Given the description of an element on the screen output the (x, y) to click on. 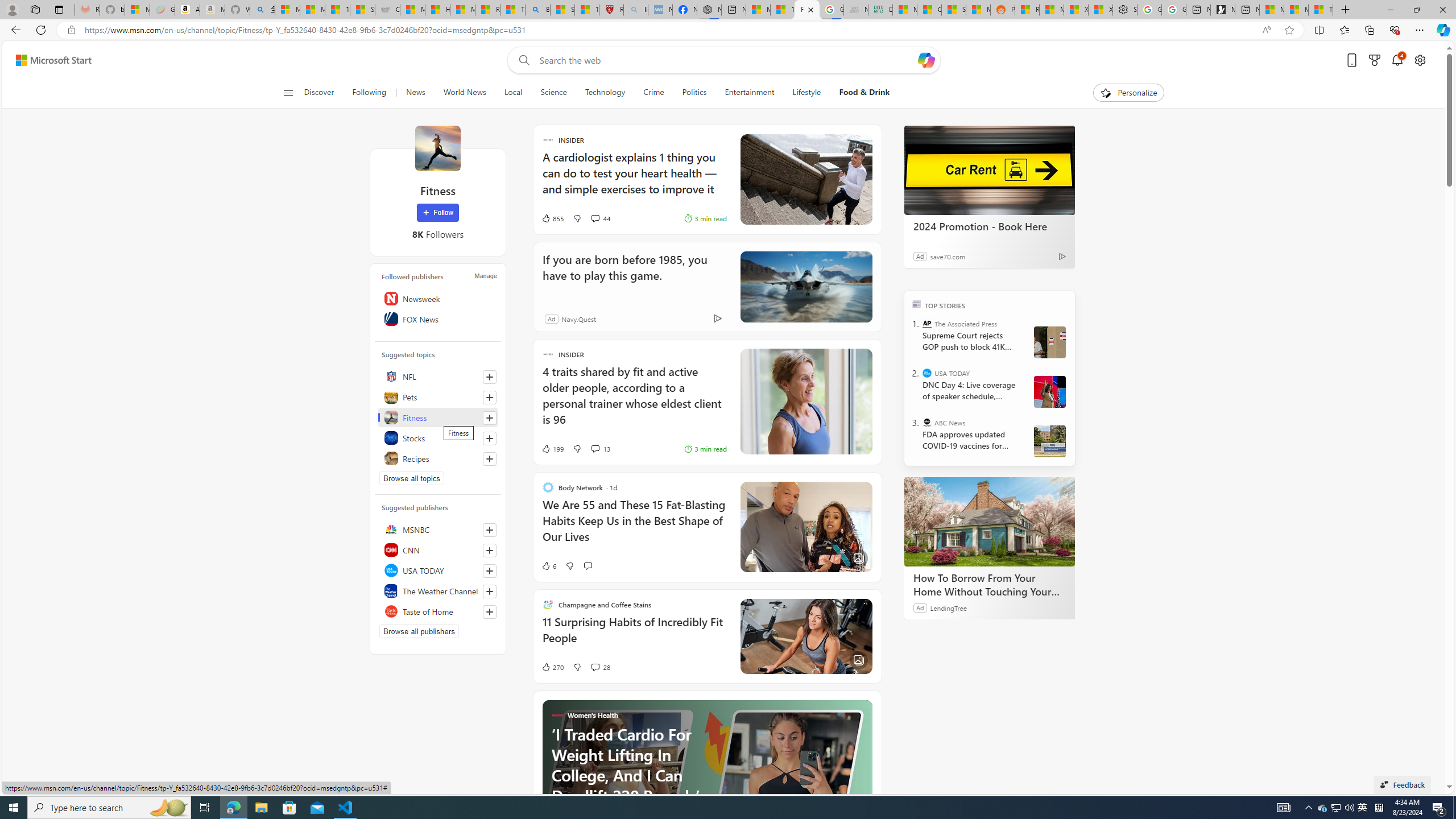
14 Common Myths Debunked By Scientific Facts (782, 9)
Ad Choice (717, 318)
Navy.Quest (578, 318)
Open settings (1420, 60)
Food & Drink (863, 92)
Start the conversation (587, 565)
USA TODAY (437, 570)
Bing (536, 9)
Pets (437, 397)
